Given the description of an element on the screen output the (x, y) to click on. 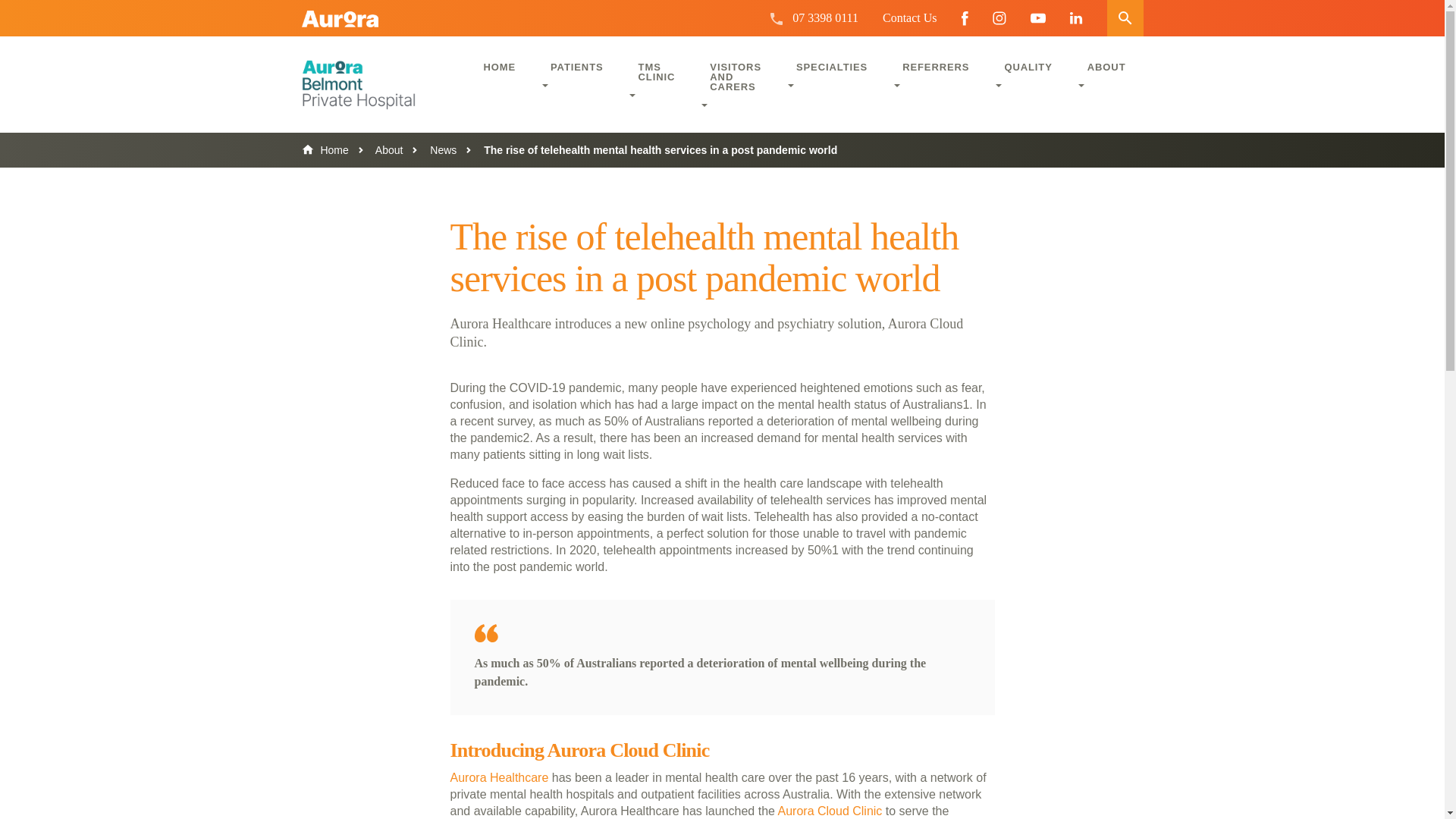
HOME (498, 66)
TMS CLINIC (657, 79)
youTube channel page - UCmlIpi6FoZz6aSYolo2XFZA (1037, 18)
VISITORS AND CARERS (735, 84)
Belmont Private (377, 84)
07 3398 0111 (825, 17)
Contact Us (909, 17)
PATIENTS (576, 74)
LinkedIn - 74750267 (1074, 18)
